Given the description of an element on the screen output the (x, y) to click on. 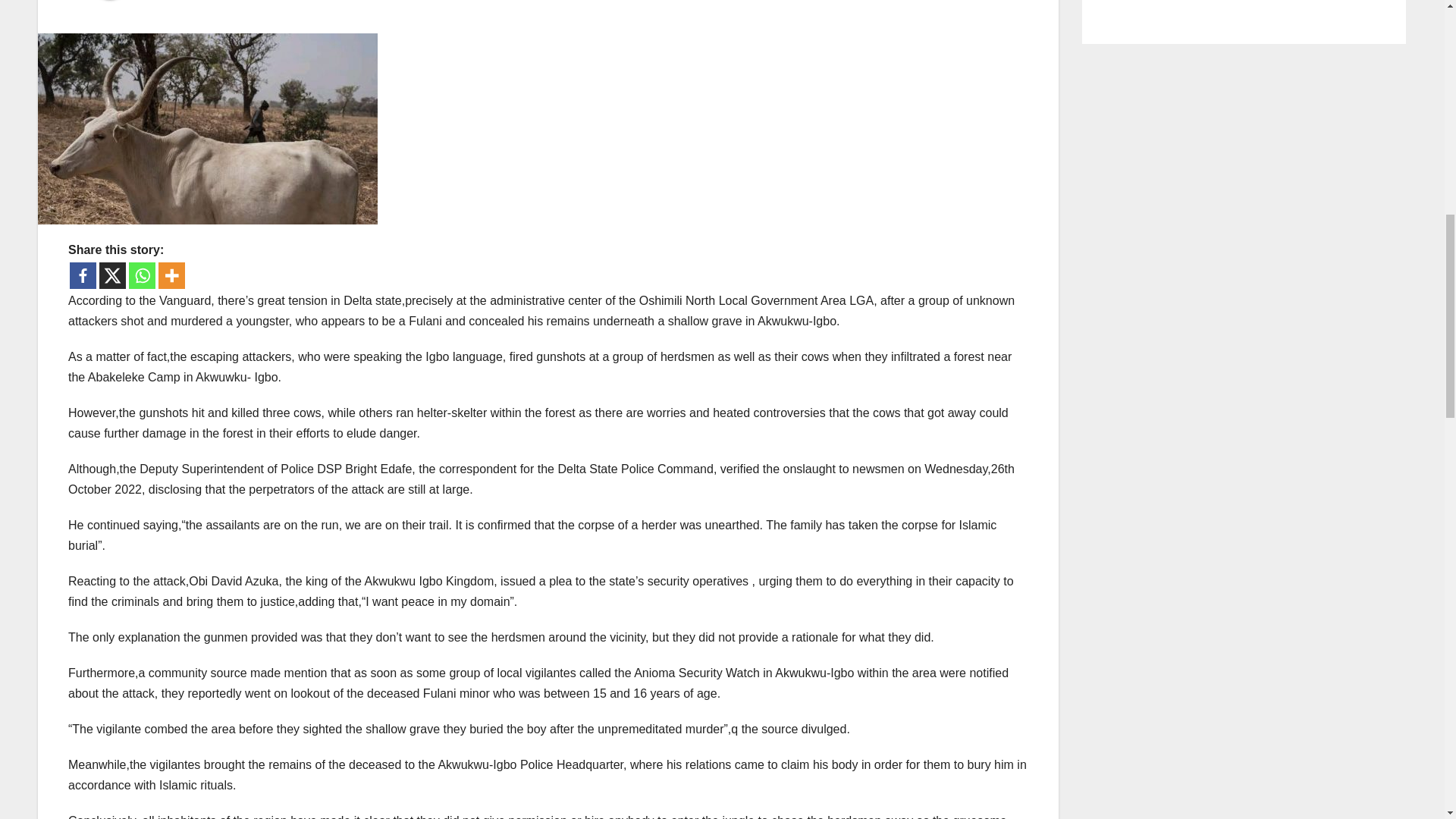
Whatsapp (142, 275)
Facebook (82, 275)
X (112, 275)
